Given the description of an element on the screen output the (x, y) to click on. 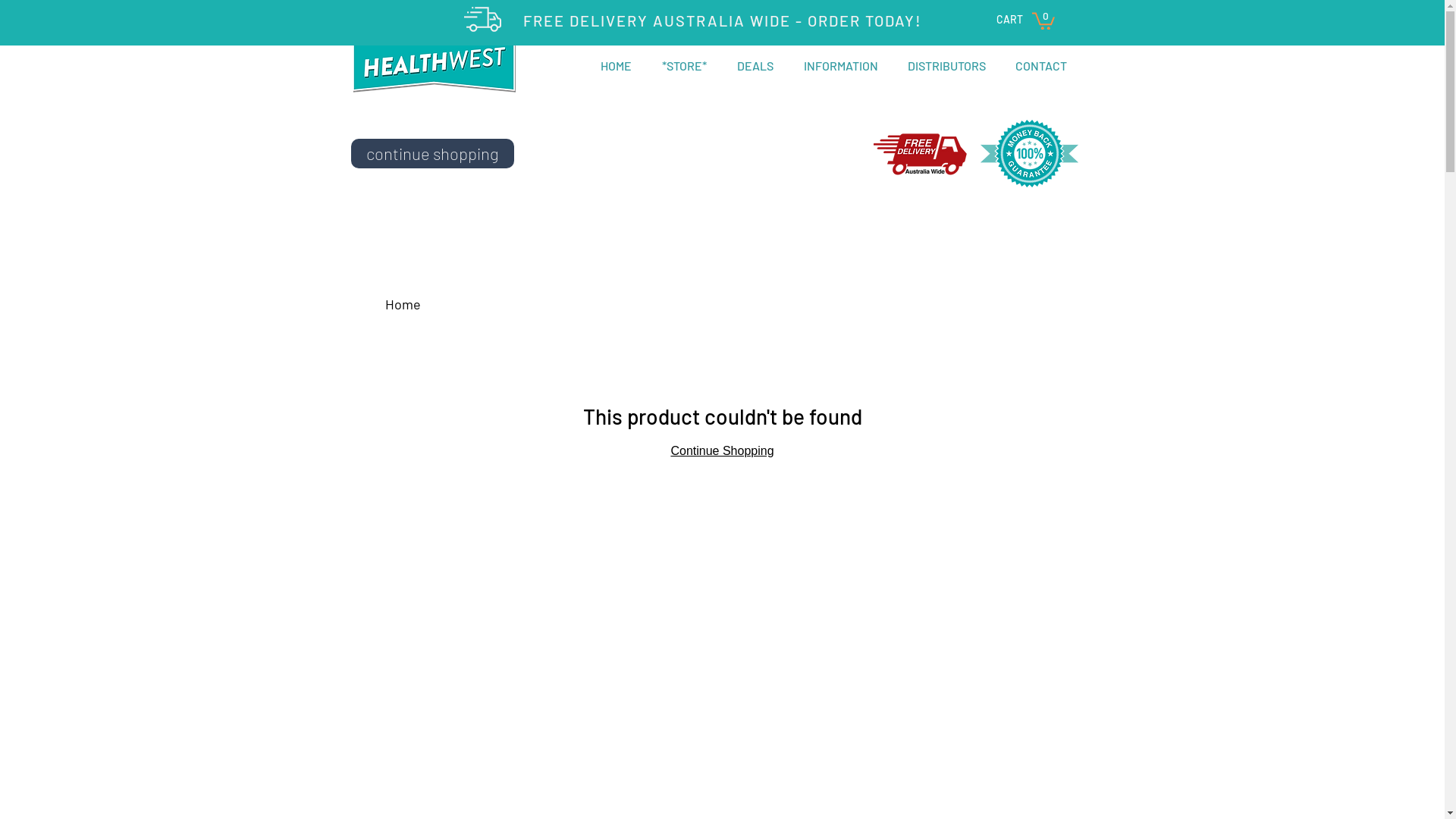
Continue Shopping Element type: text (721, 450)
DEALS Element type: text (754, 65)
HOME Element type: text (615, 65)
CONTACT Element type: text (1041, 65)
DISTRIBUTORS Element type: text (947, 65)
Home Element type: text (402, 303)
INFORMATION Element type: text (840, 65)
*STORE* Element type: text (683, 65)
continue shopping Element type: text (431, 153)
0 Element type: text (1042, 19)
CART Element type: text (1009, 18)
